Given the description of an element on the screen output the (x, y) to click on. 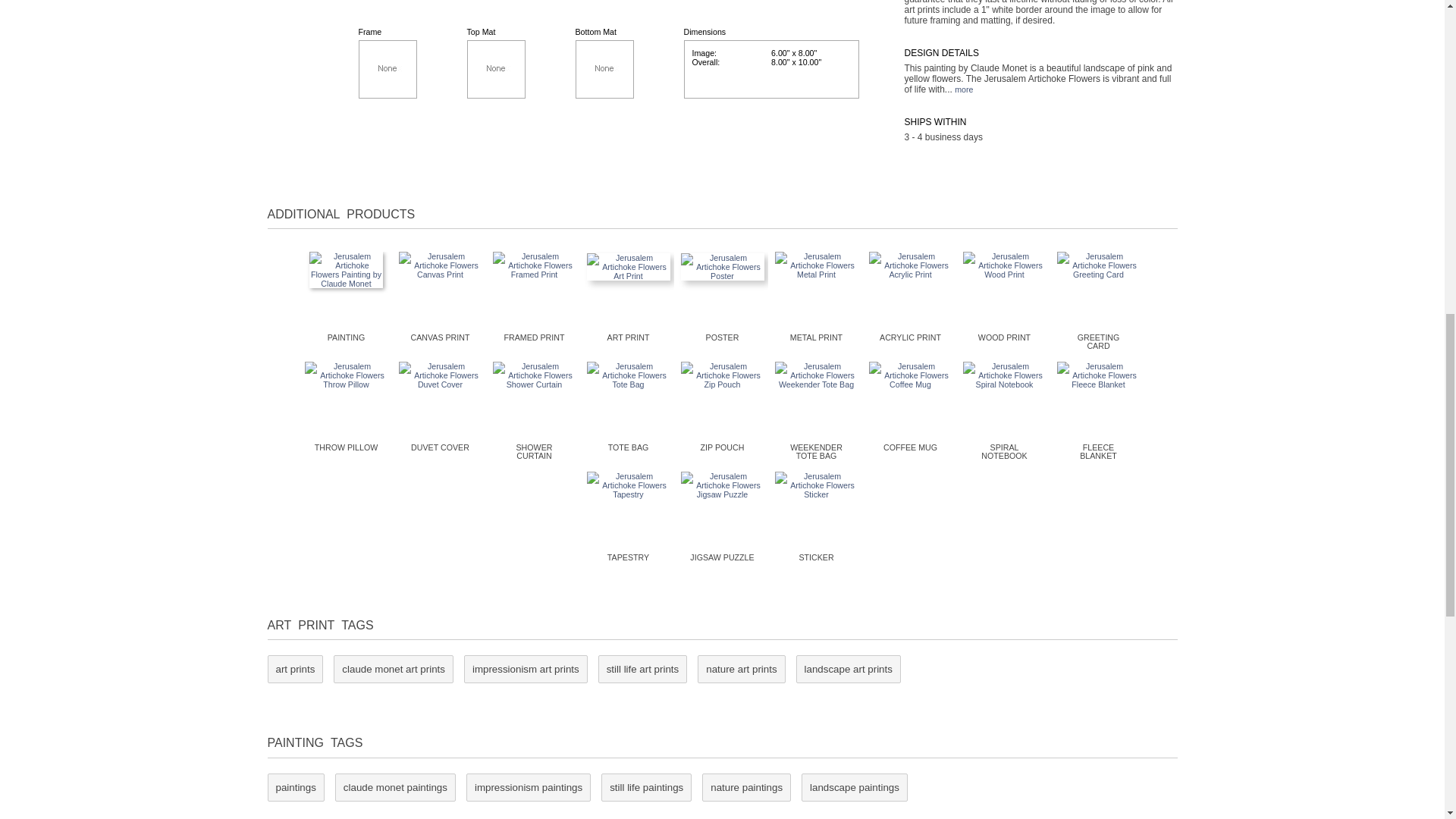
Selected Frame (387, 69)
Bottom Mat (604, 69)
Top Mat (496, 69)
